Given the description of an element on the screen output the (x, y) to click on. 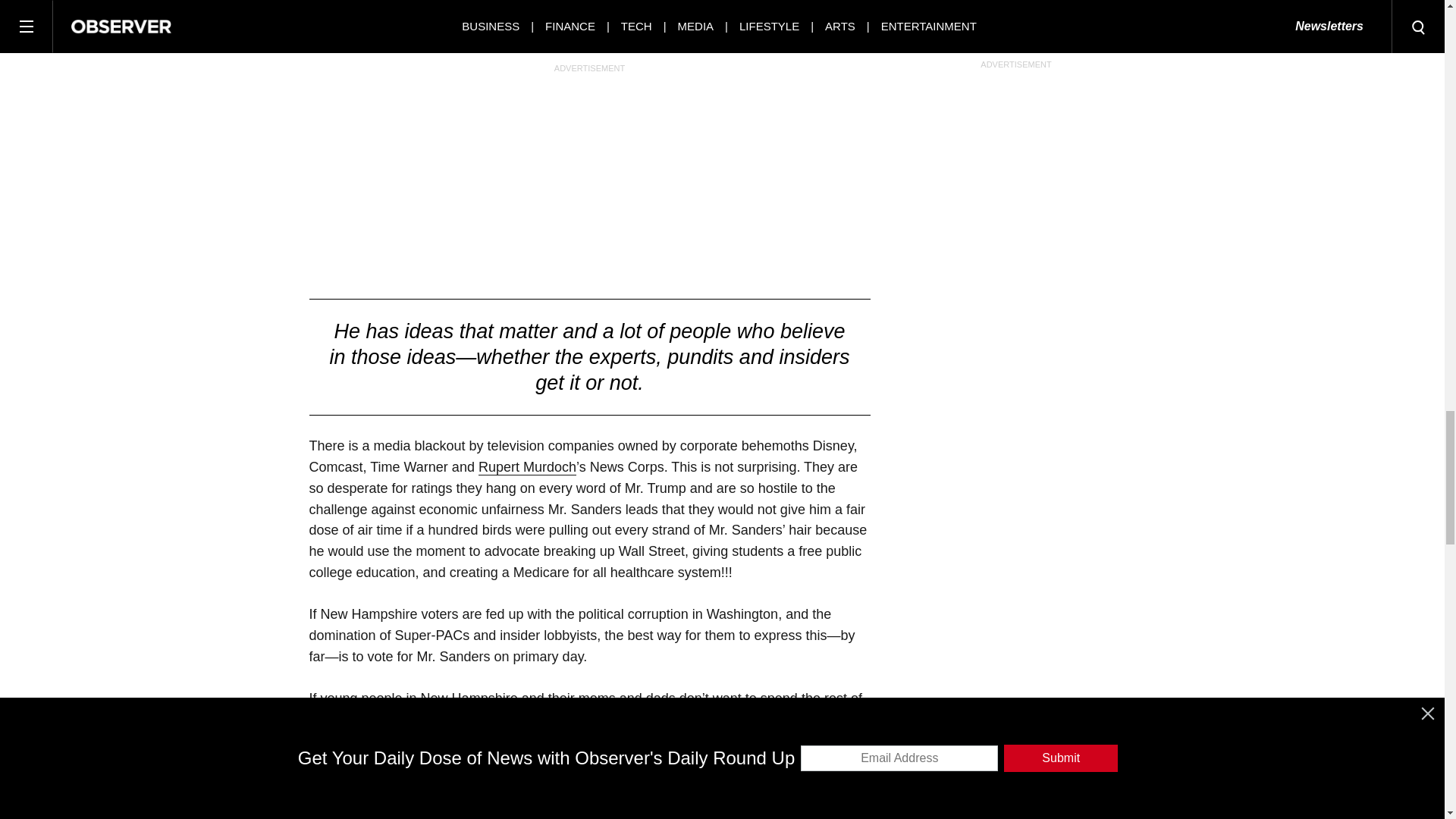
Rupert Murdoch (527, 467)
